Given the description of an element on the screen output the (x, y) to click on. 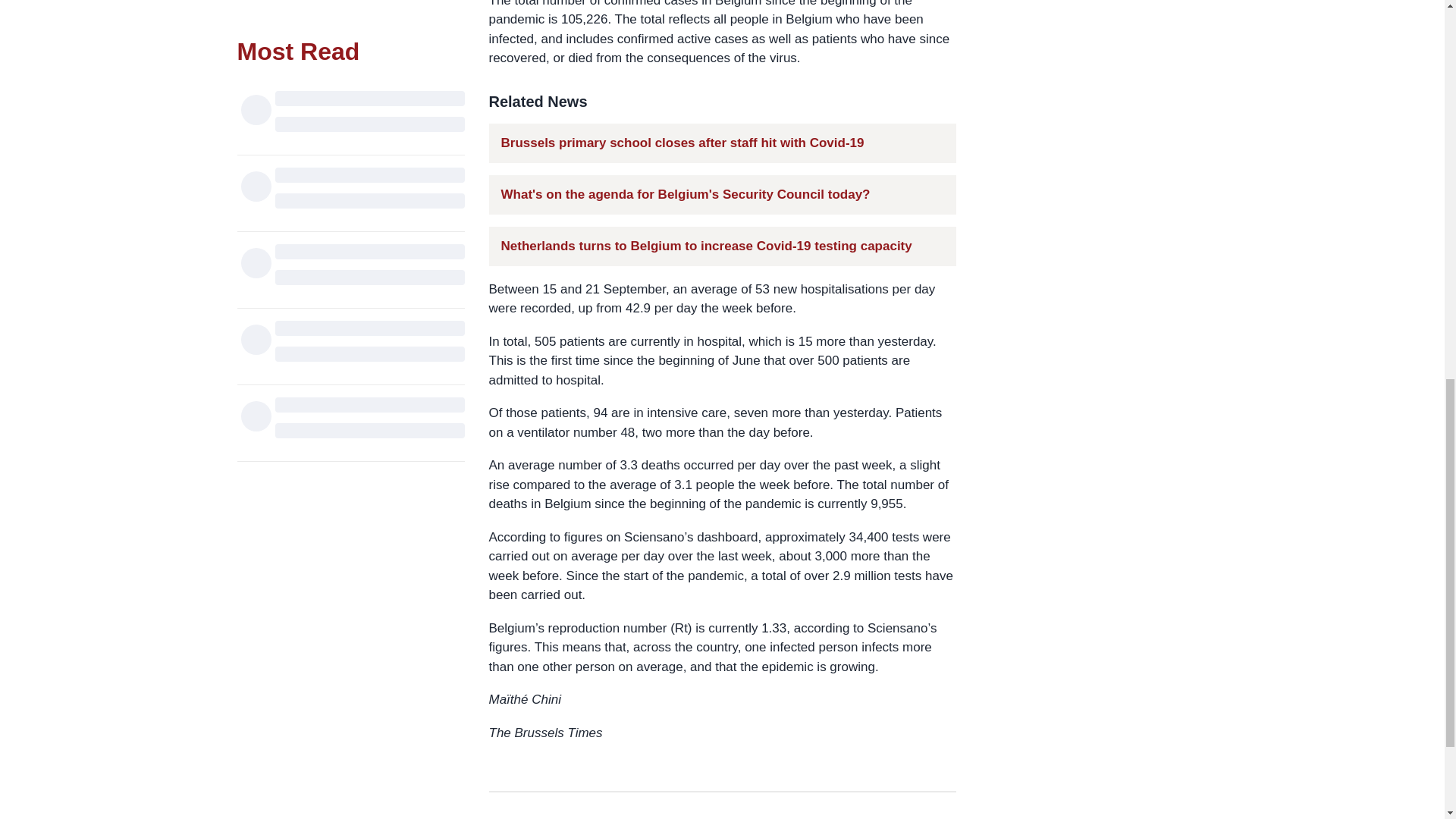
Brussels primary school closes after staff hit with Covid-19 (681, 142)
What's on the agenda for Belgium's Security Council today? (684, 194)
